Given the description of an element on the screen output the (x, y) to click on. 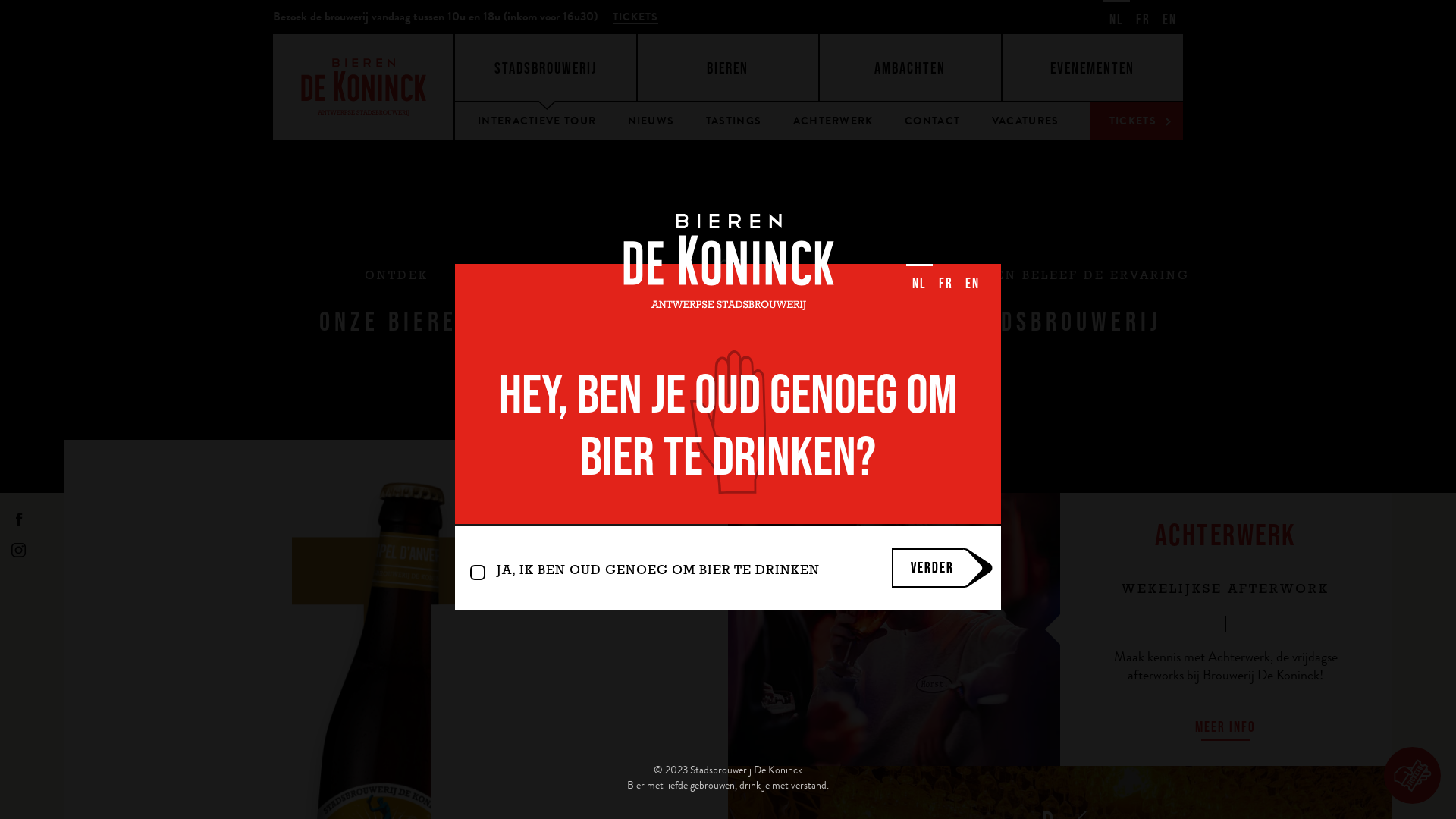
FR Element type: text (945, 280)
NL Element type: text (919, 280)
ONTDEK

ONZE BIEREN Element type: text (396, 302)
CONTACT Element type: text (932, 121)
Instagram Element type: text (18, 549)
STADSBROUWERIJ Element type: text (545, 67)
EN Element type: text (972, 280)
EVENEMENTEN Element type: text (1092, 67)
NL Element type: text (1116, 17)
FR Element type: text (1142, 17)
MEER INFO Element type: text (1225, 726)
VERDER Element type: text (927, 567)
Facebook Element type: text (18, 519)
TICKETS Element type: text (1136, 121)
TASTINGS Element type: text (733, 121)
VACATURES Element type: text (1025, 121)
EN Element type: text (1169, 17)
AMBACHTEN Element type: text (910, 67)
NIEUWS Element type: text (650, 121)
BEZOEK EN BELEEF DE ERVARING

STADSBROUWERIJ Element type: text (1059, 302)
TICKETS Element type: text (635, 16)
INTERACTIEVE TOUR Element type: text (536, 121)
ACHTERWERK Element type: text (833, 121)
BIEREN Element type: text (727, 67)
